Given the description of an element on the screen output the (x, y) to click on. 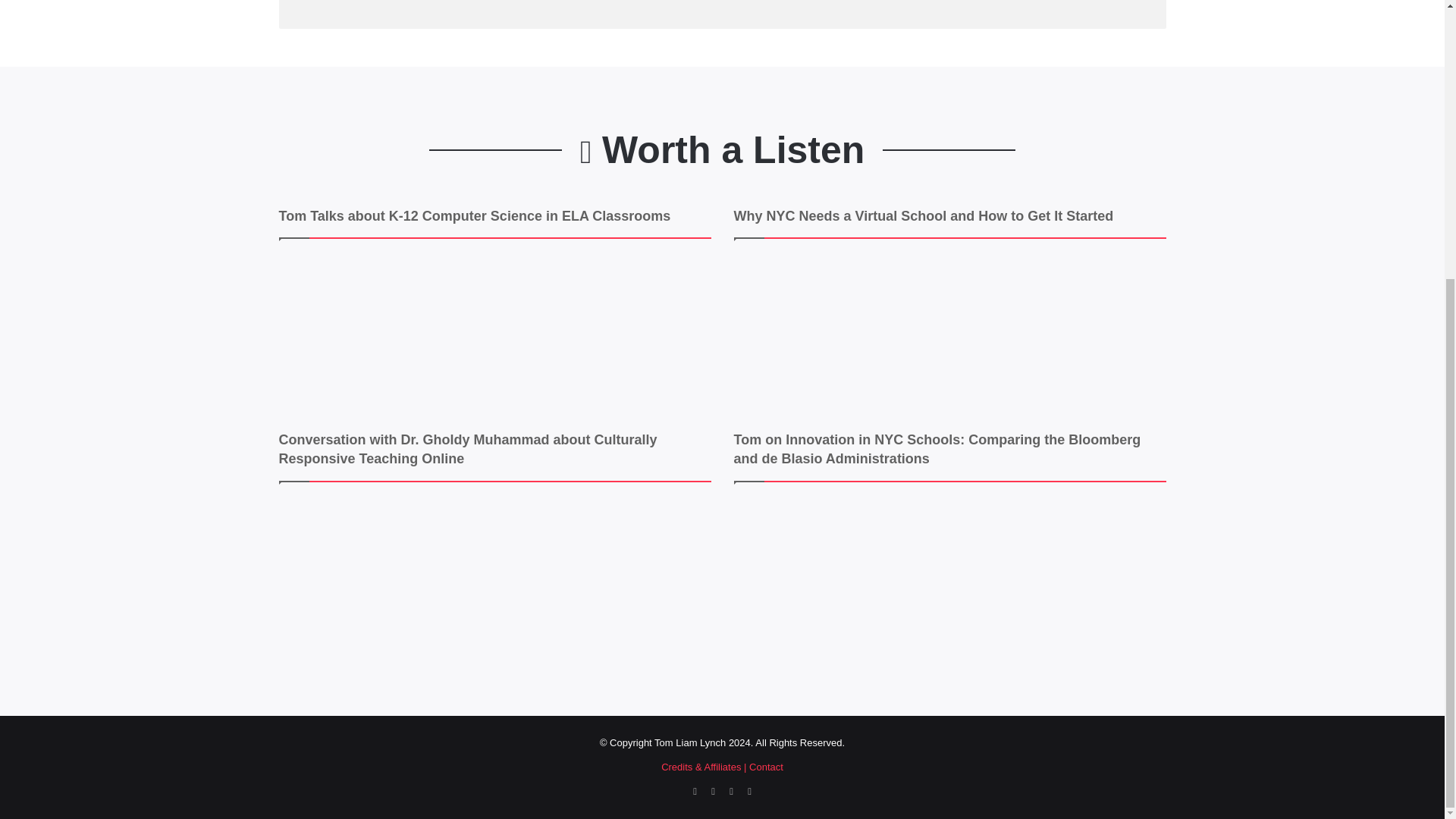
X (712, 791)
Facebook (694, 791)
LinkedIn (730, 791)
Instagram (748, 791)
